Given the description of an element on the screen output the (x, y) to click on. 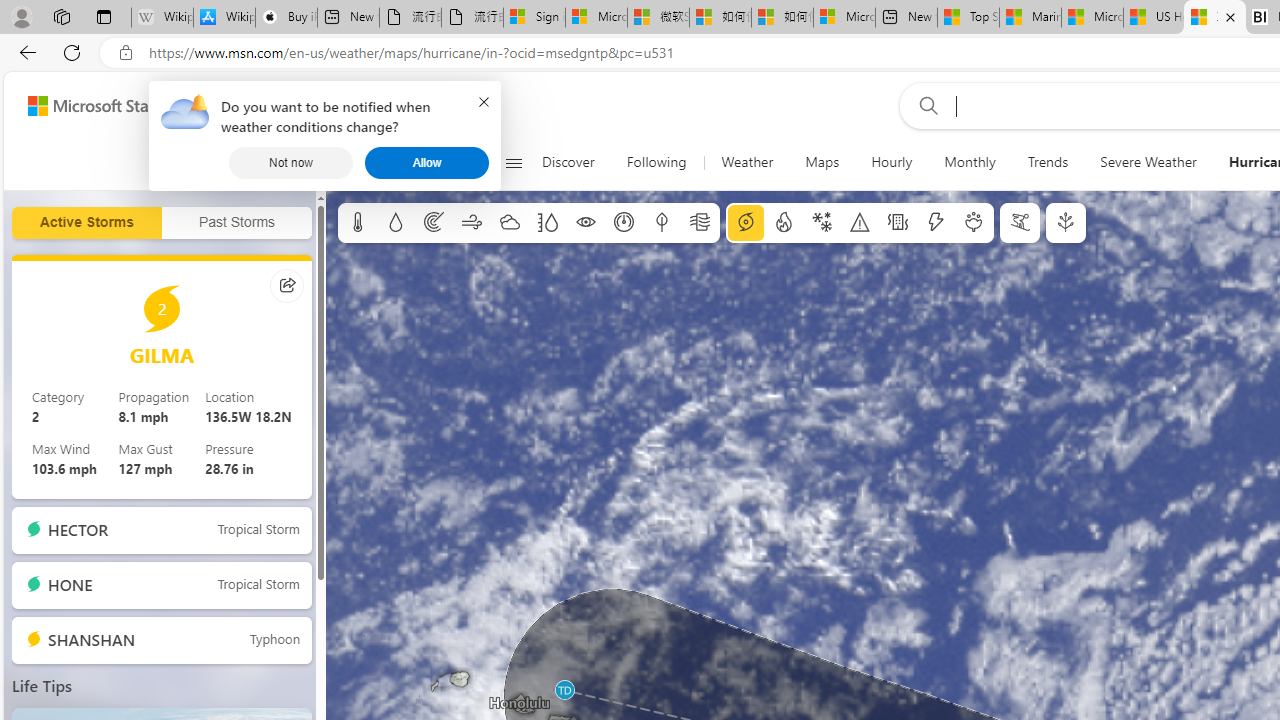
Radar (433, 223)
SHANSHAN Typhoon (161, 640)
share dialog (287, 284)
Not now (291, 162)
Sea level pressure (623, 223)
Monthly (970, 162)
